Given the description of an element on the screen output the (x, y) to click on. 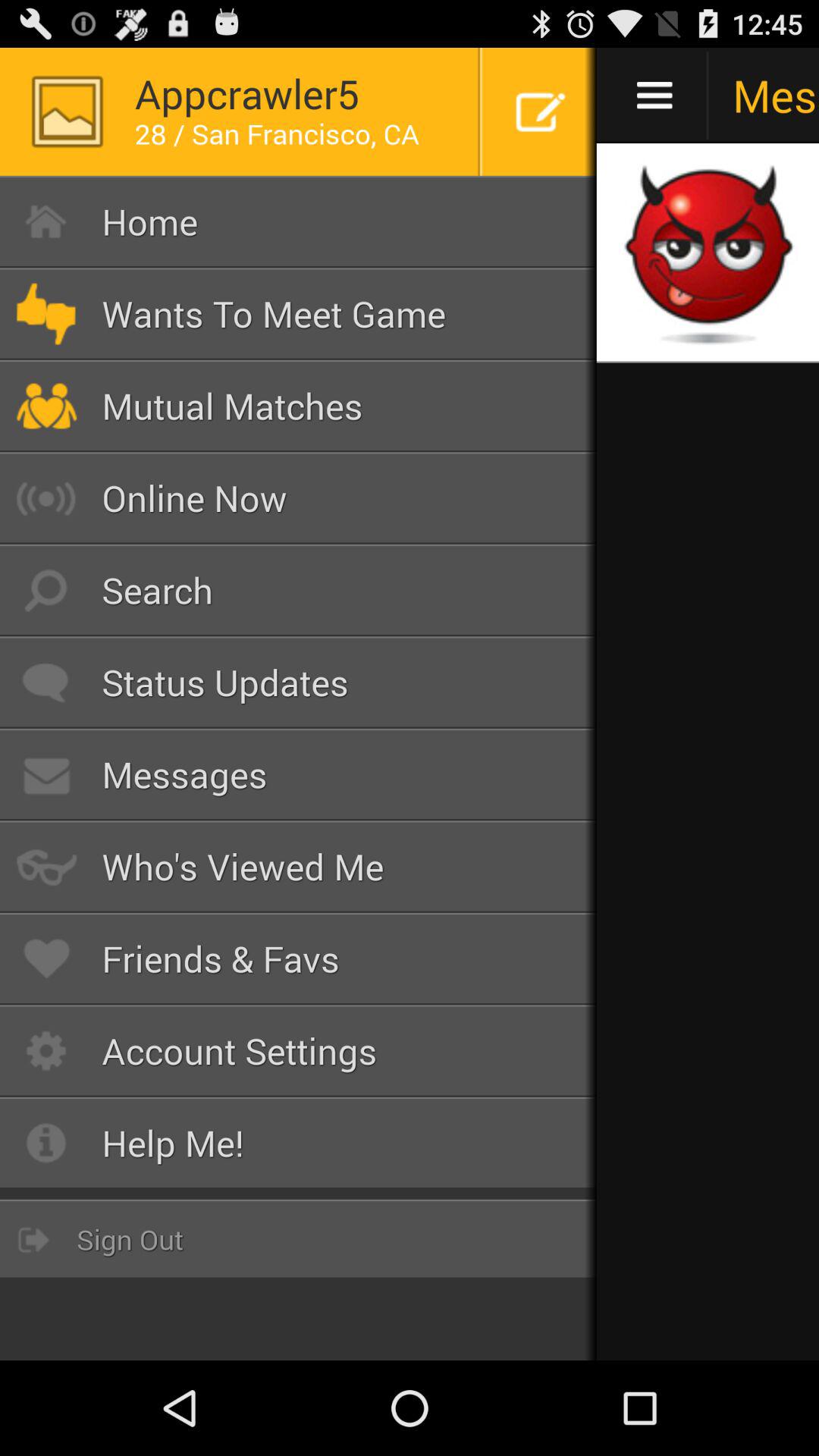
jump until mutual matches icon (298, 406)
